Given the description of an element on the screen output the (x, y) to click on. 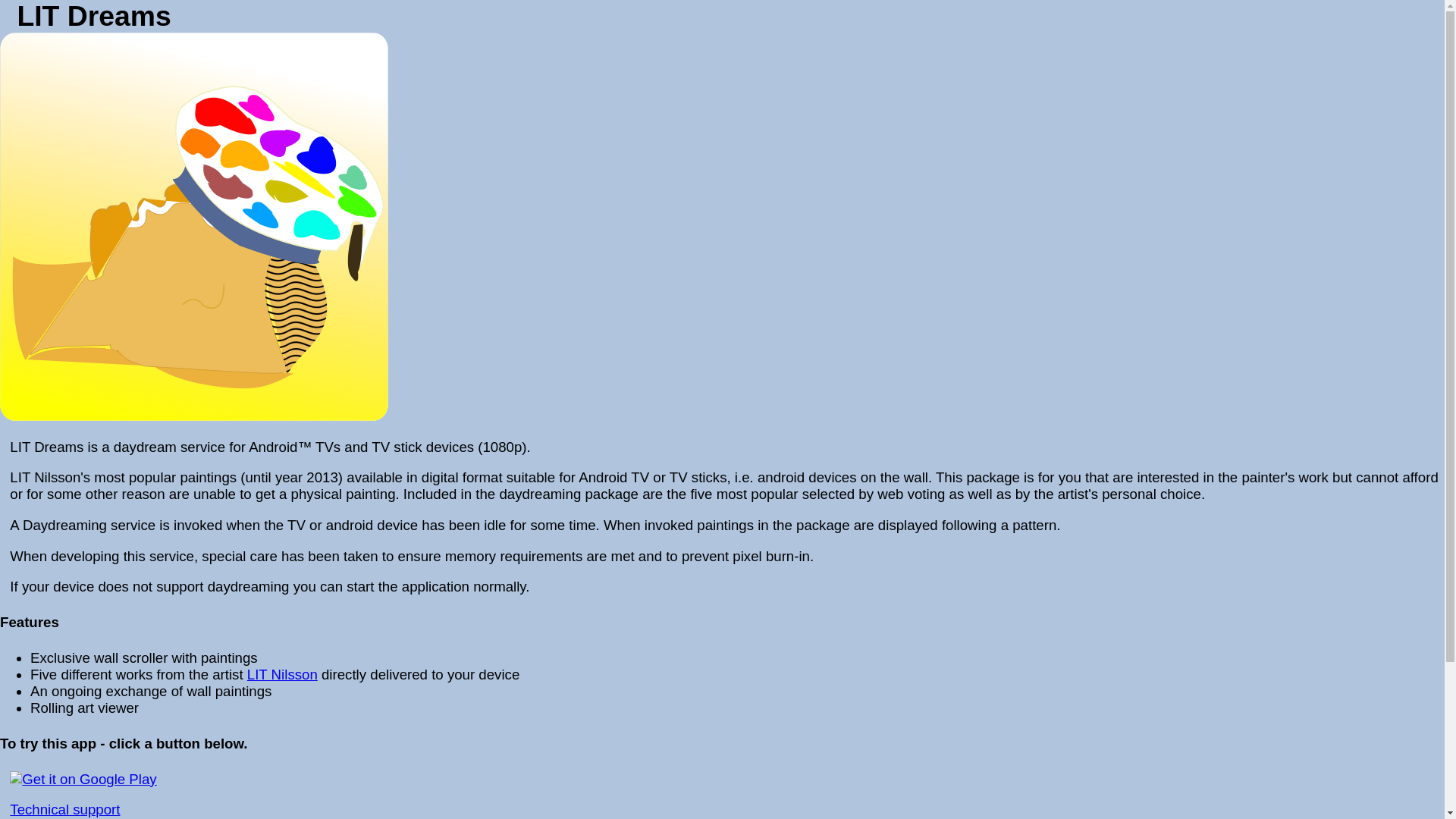
Technical support (64, 809)
LIT Nilsson (282, 674)
